Given the description of an element on the screen output the (x, y) to click on. 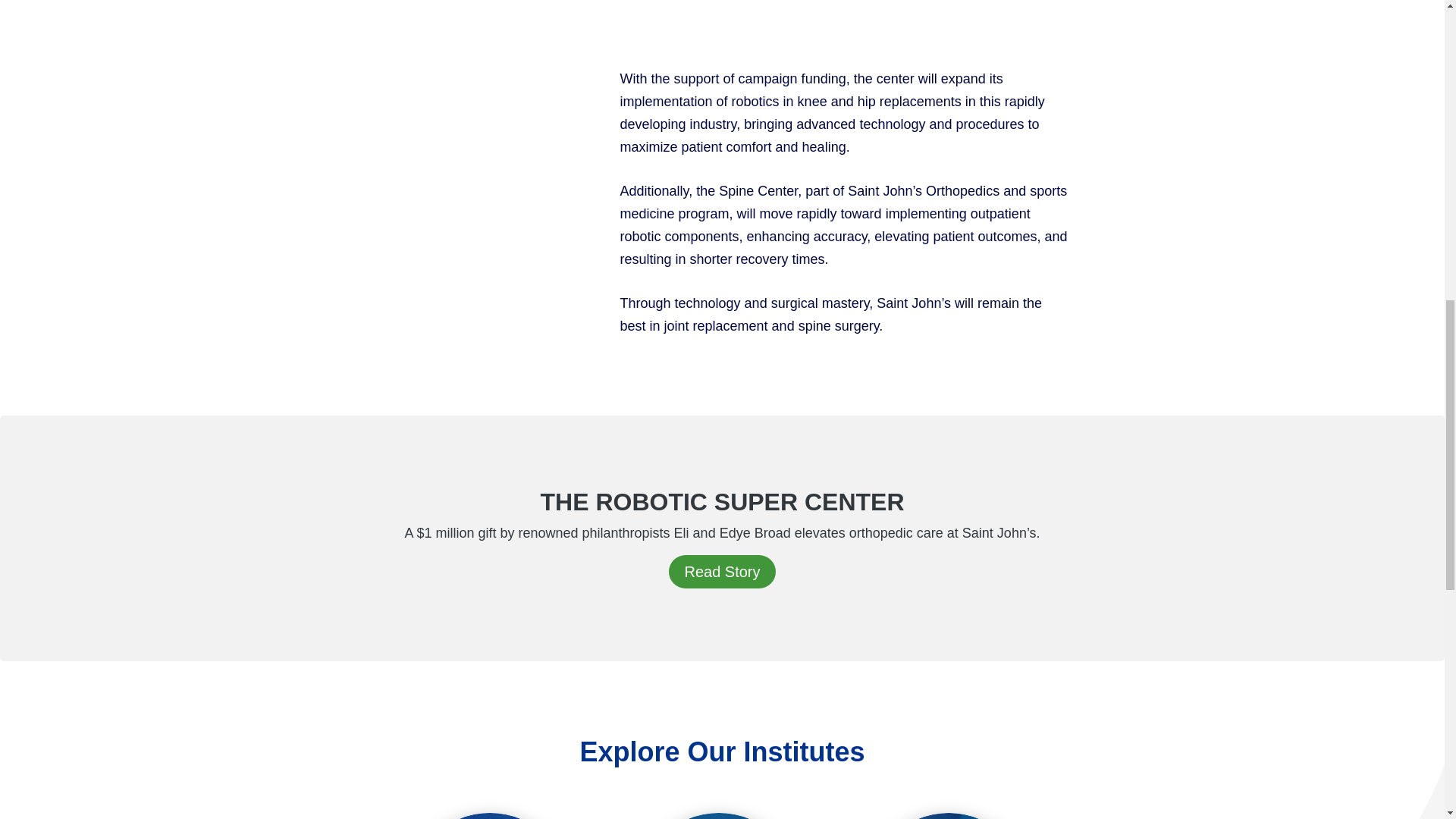
Read Story (489, 816)
